Given the description of an element on the screen output the (x, y) to click on. 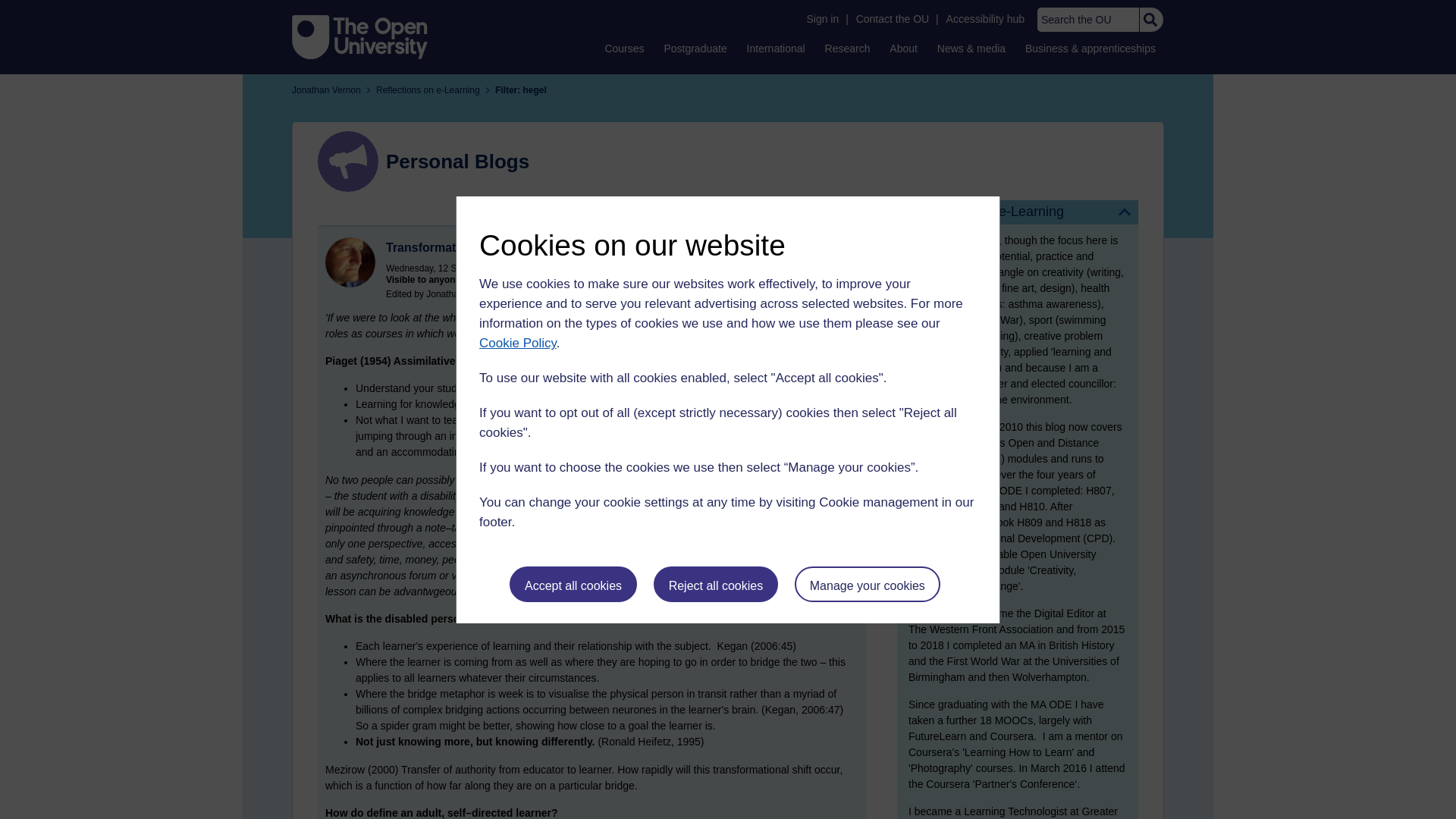
Contact the OU (892, 19)
Postgraduate (695, 48)
Manage your cookies (867, 583)
About (903, 48)
Search (1149, 19)
Cookie Policy (517, 342)
International (775, 48)
Search (1149, 19)
Reject all cookies (715, 583)
Courses (623, 48)
